Given the description of an element on the screen output the (x, y) to click on. 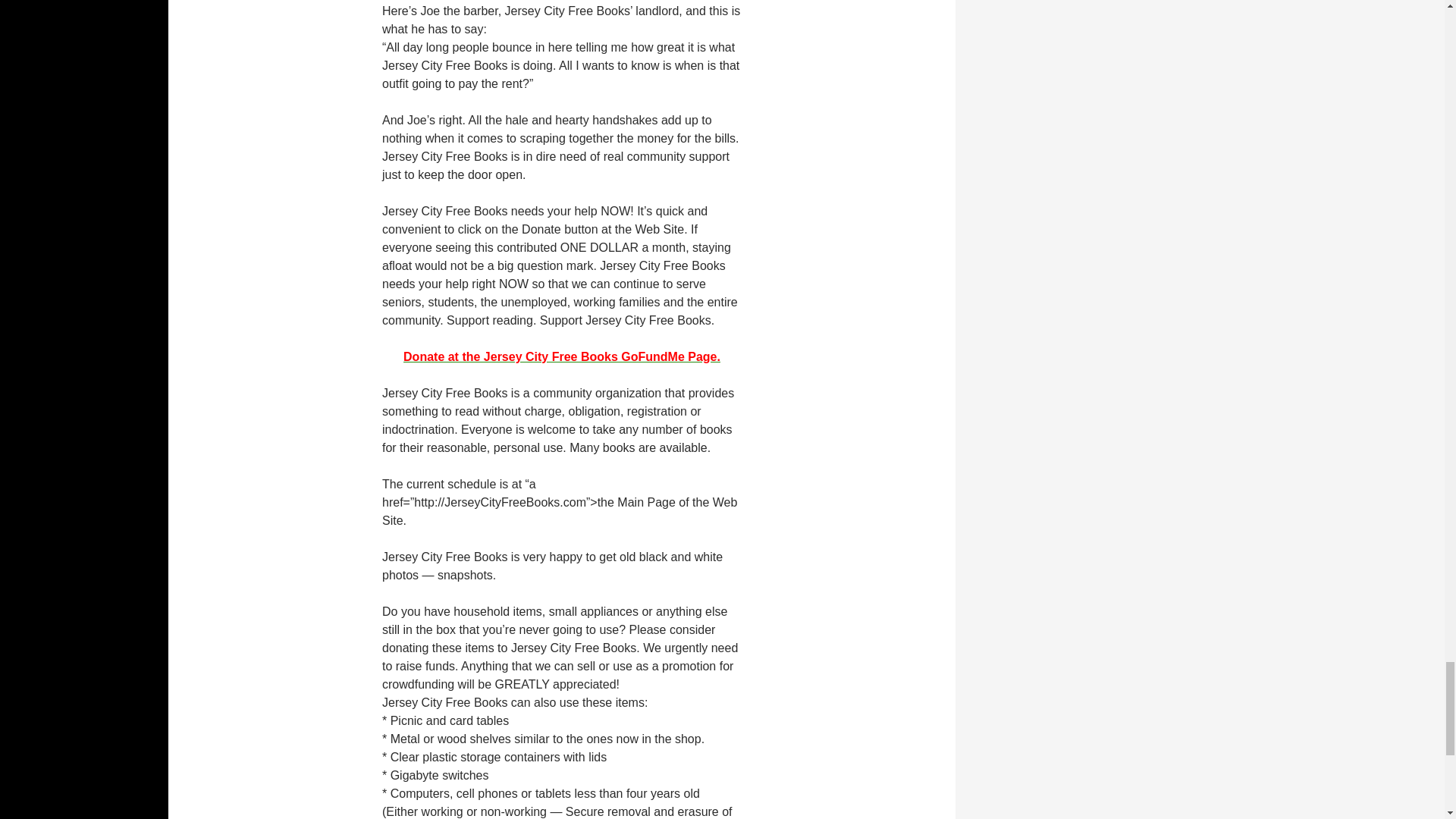
Donate at the Jersey City Free Books GoFundMe Page. (561, 356)
